Given the description of an element on the screen output the (x, y) to click on. 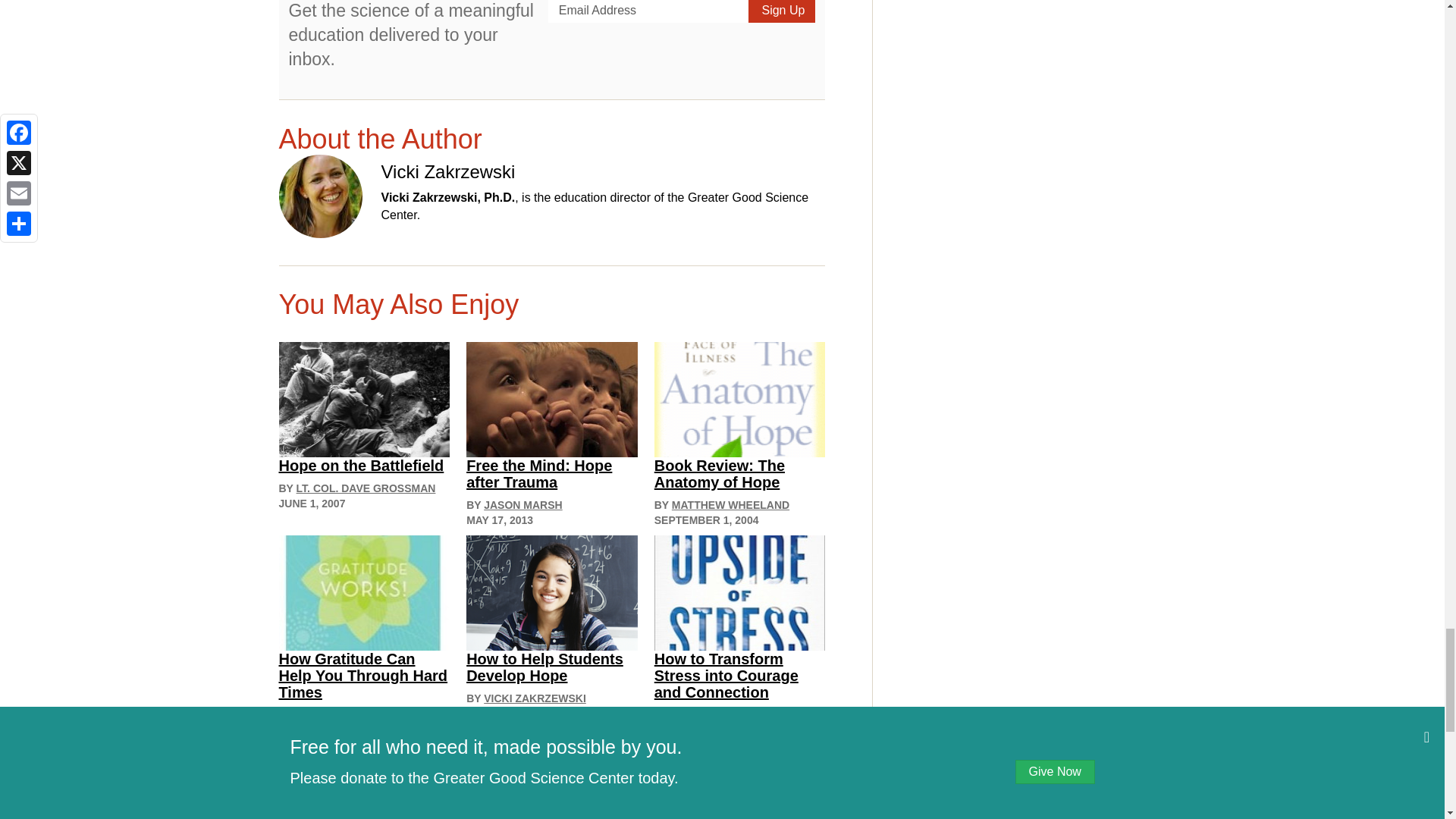
Sign Up (781, 11)
